Given the description of an element on the screen output the (x, y) to click on. 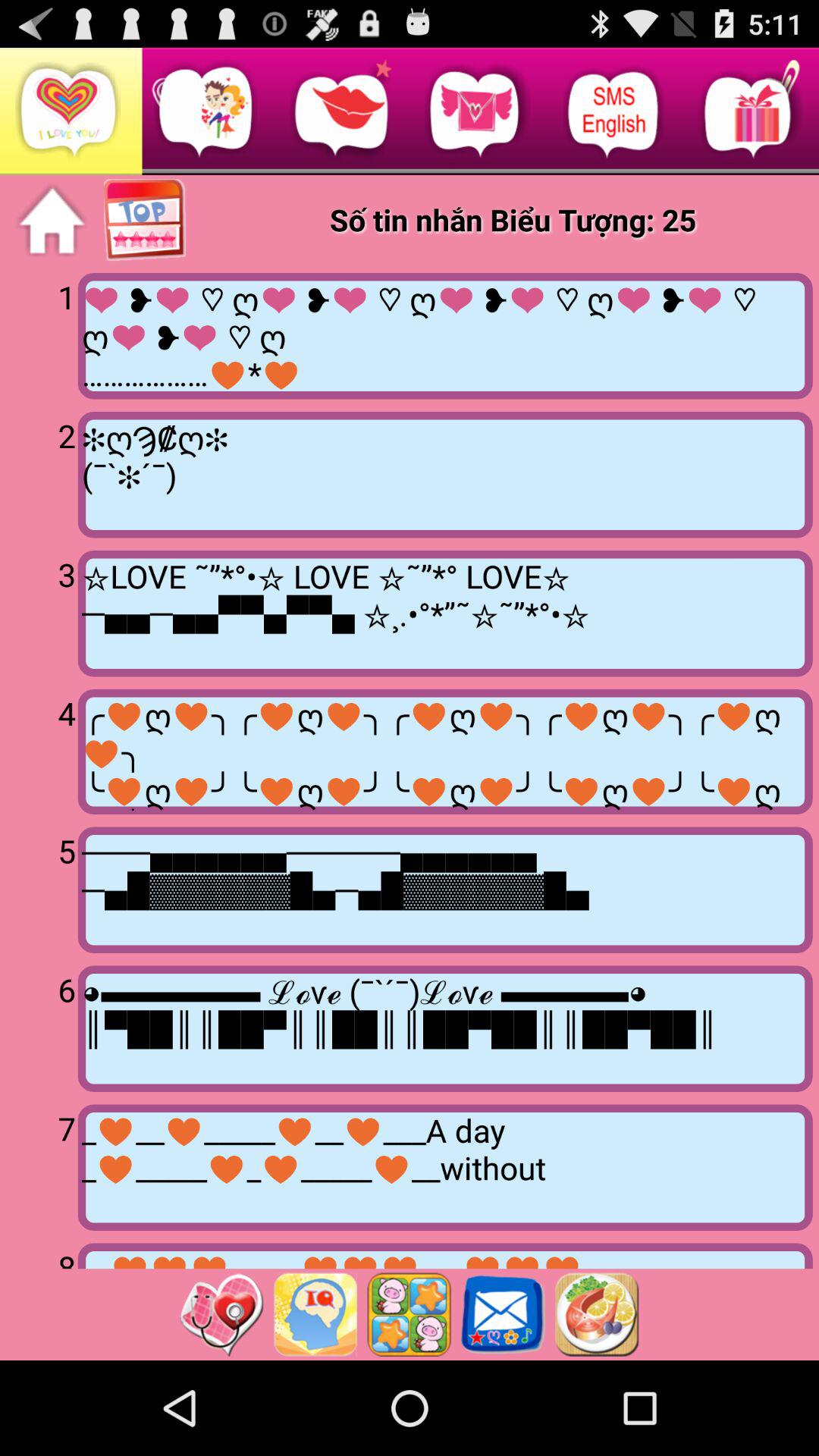
select the icon to the right of the 1 item (444, 336)
